Given the description of an element on the screen output the (x, y) to click on. 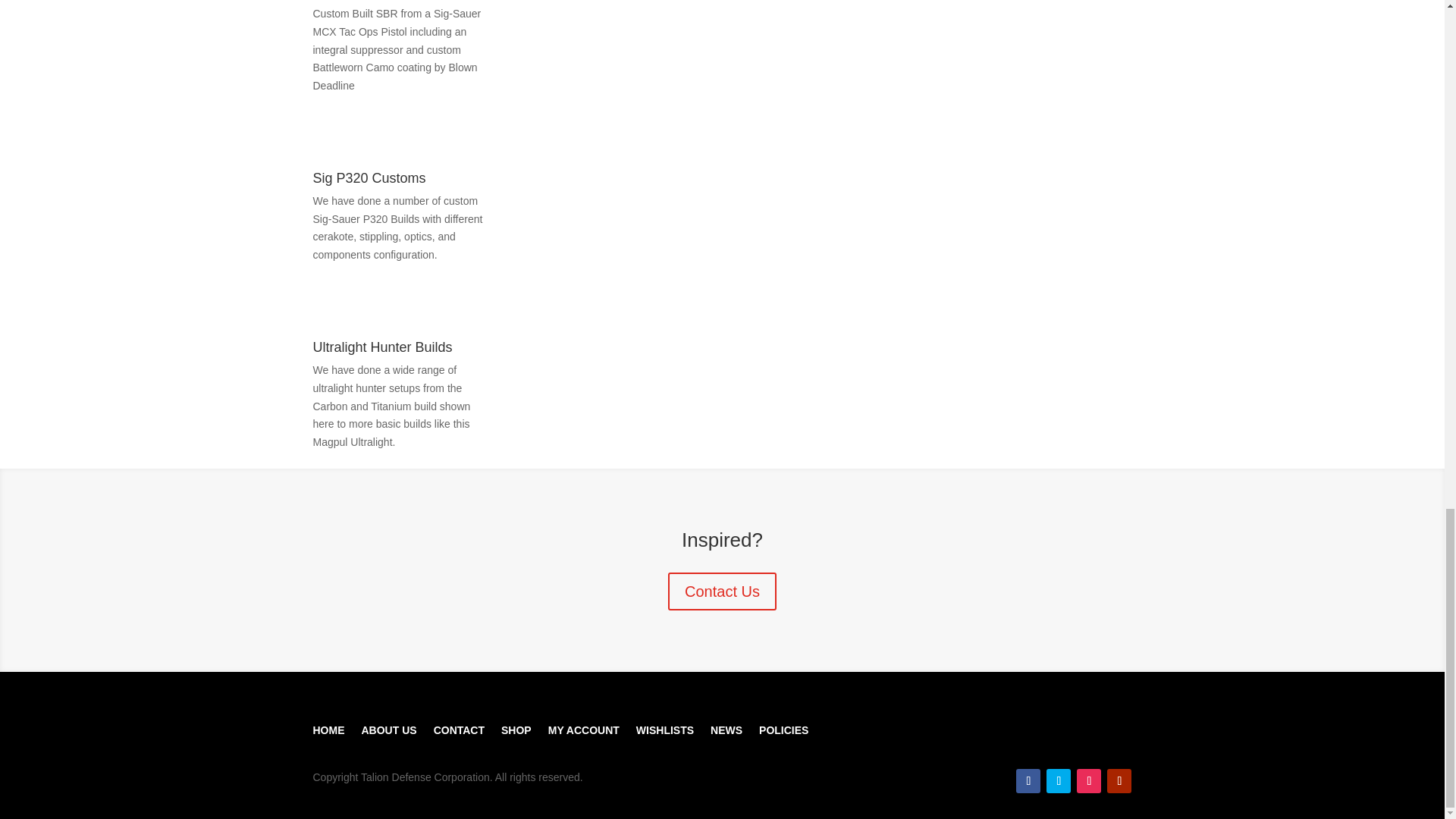
HOME (328, 727)
MY ACCOUNT (584, 727)
ABOUT US (388, 727)
Contact Us (722, 591)
WISHLISTS (665, 727)
POLICIES (783, 727)
SHOP (515, 727)
CONTACT (458, 727)
NEWS (726, 727)
